Given the description of an element on the screen output the (x, y) to click on. 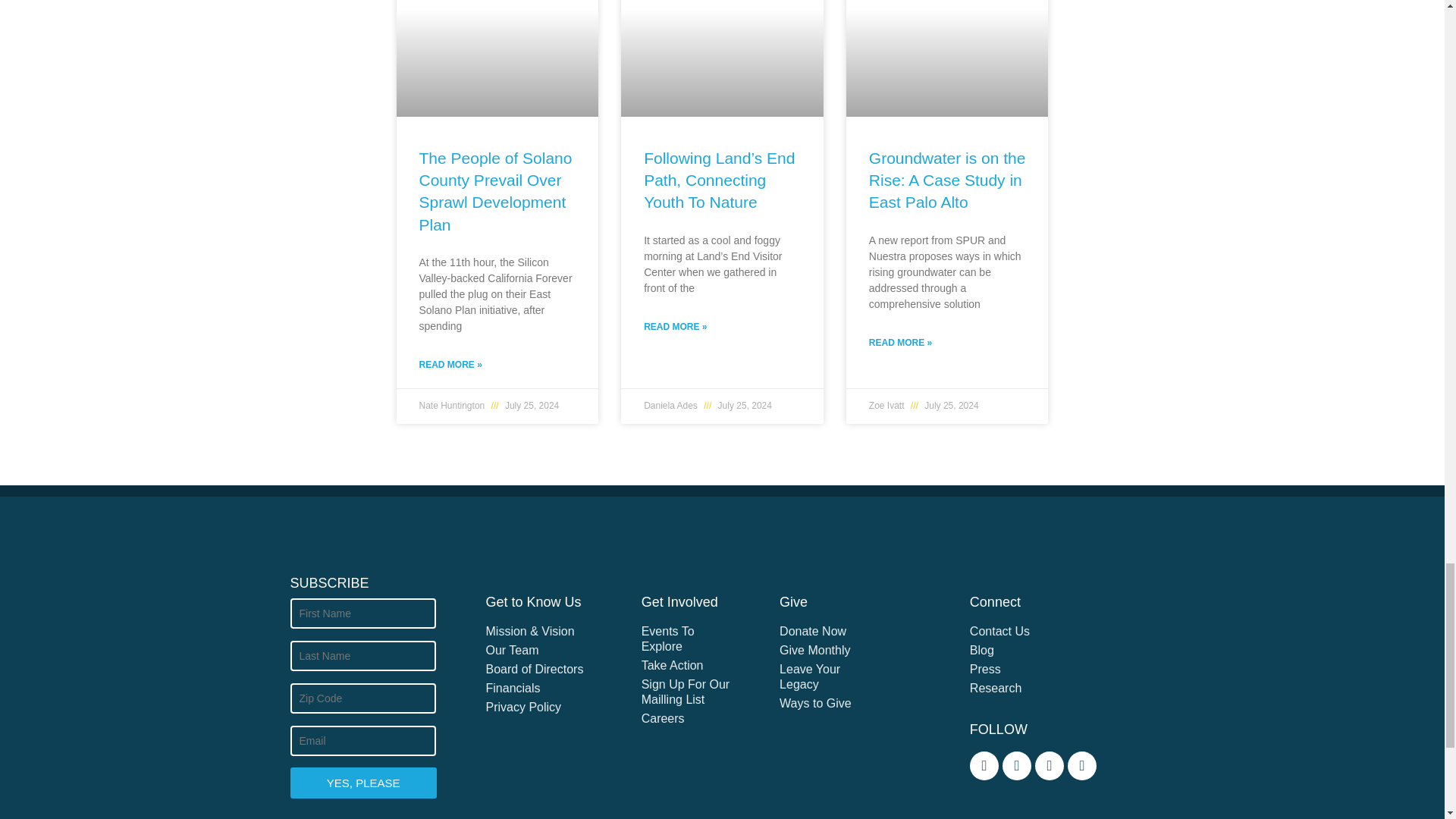
Yes, Please (362, 782)
